Given the description of an element on the screen output the (x, y) to click on. 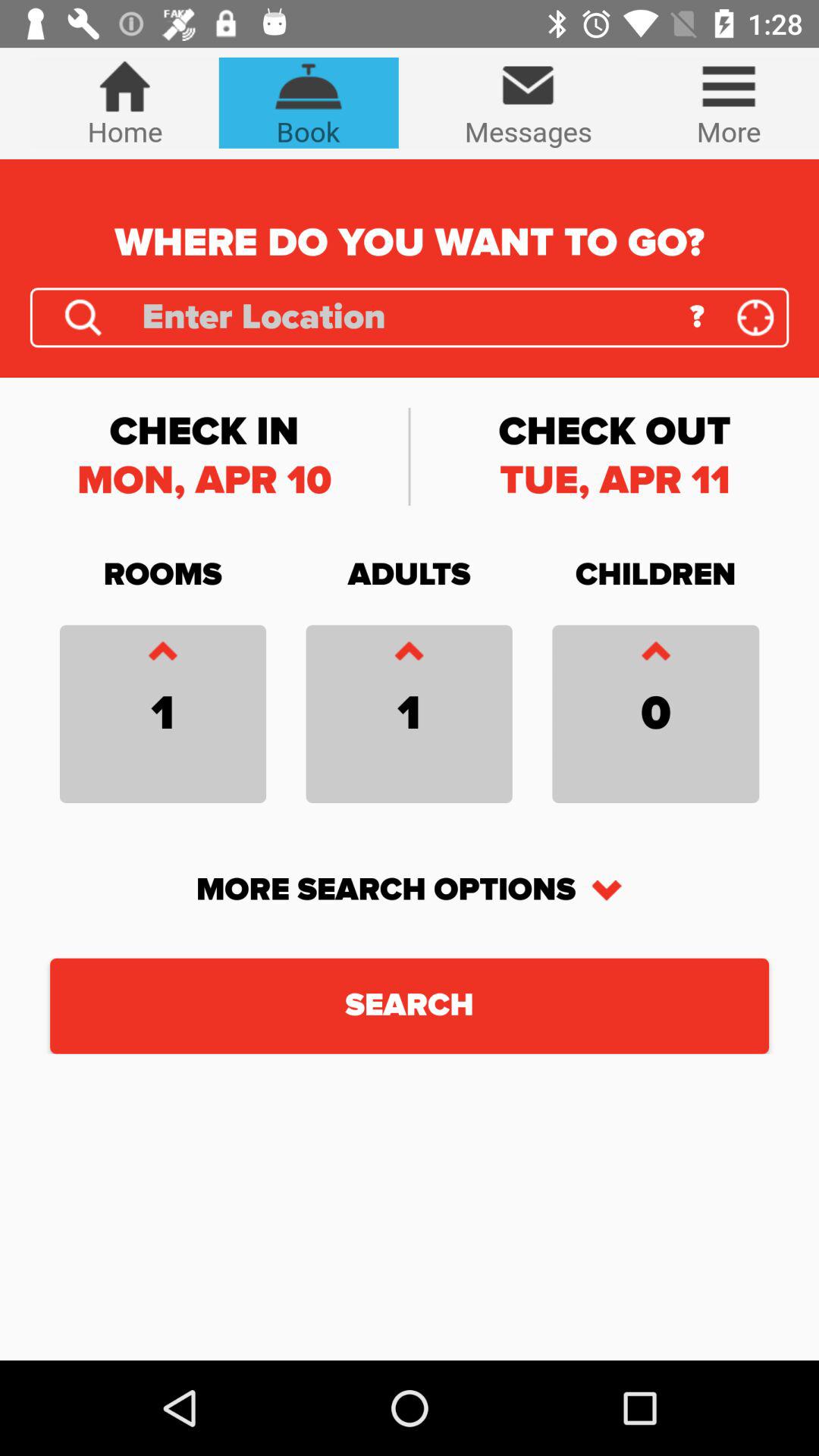
increase number of adults (408, 654)
